Given the description of an element on the screen output the (x, y) to click on. 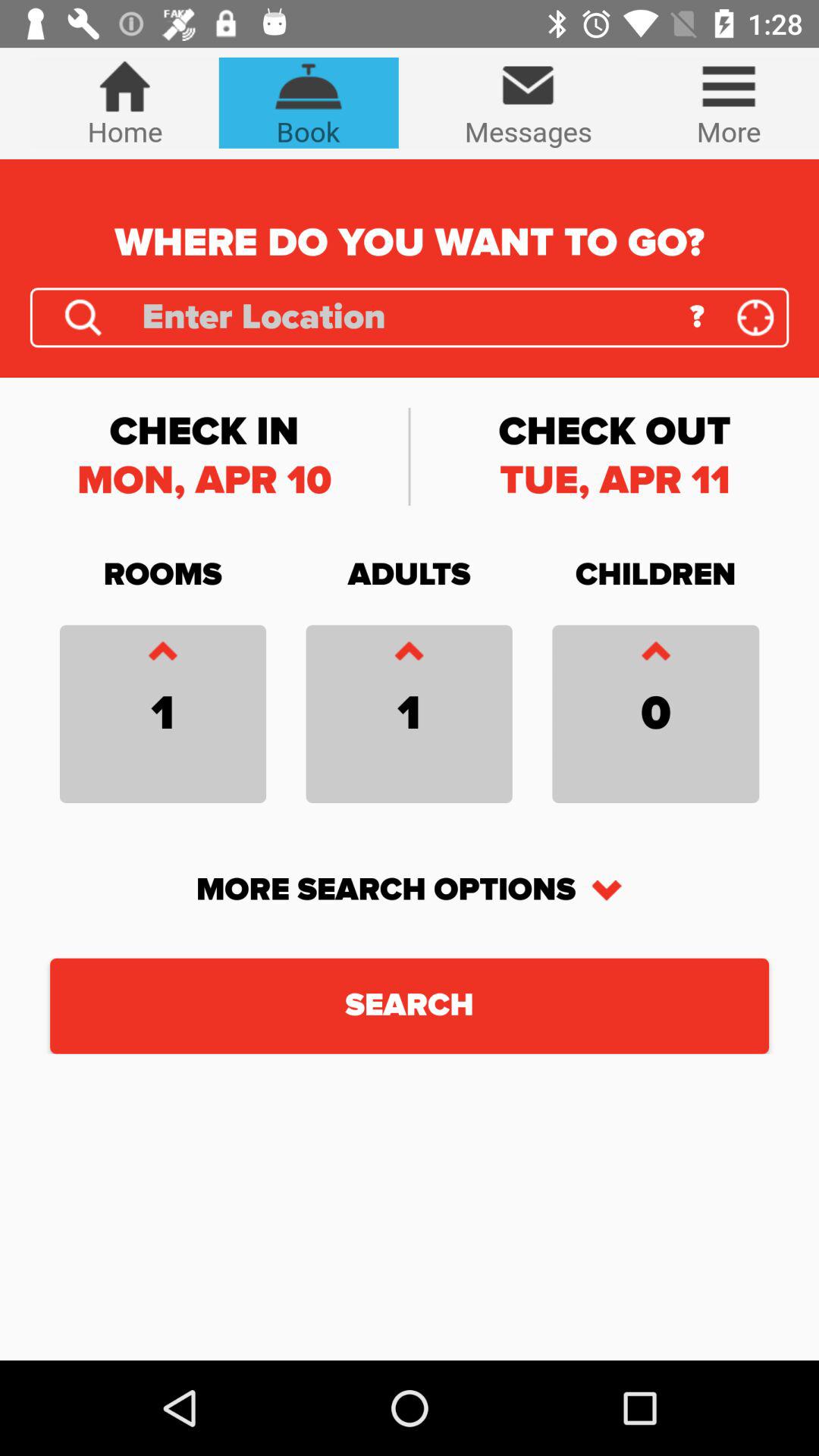
increase number of adults (408, 654)
